Given the description of an element on the screen output the (x, y) to click on. 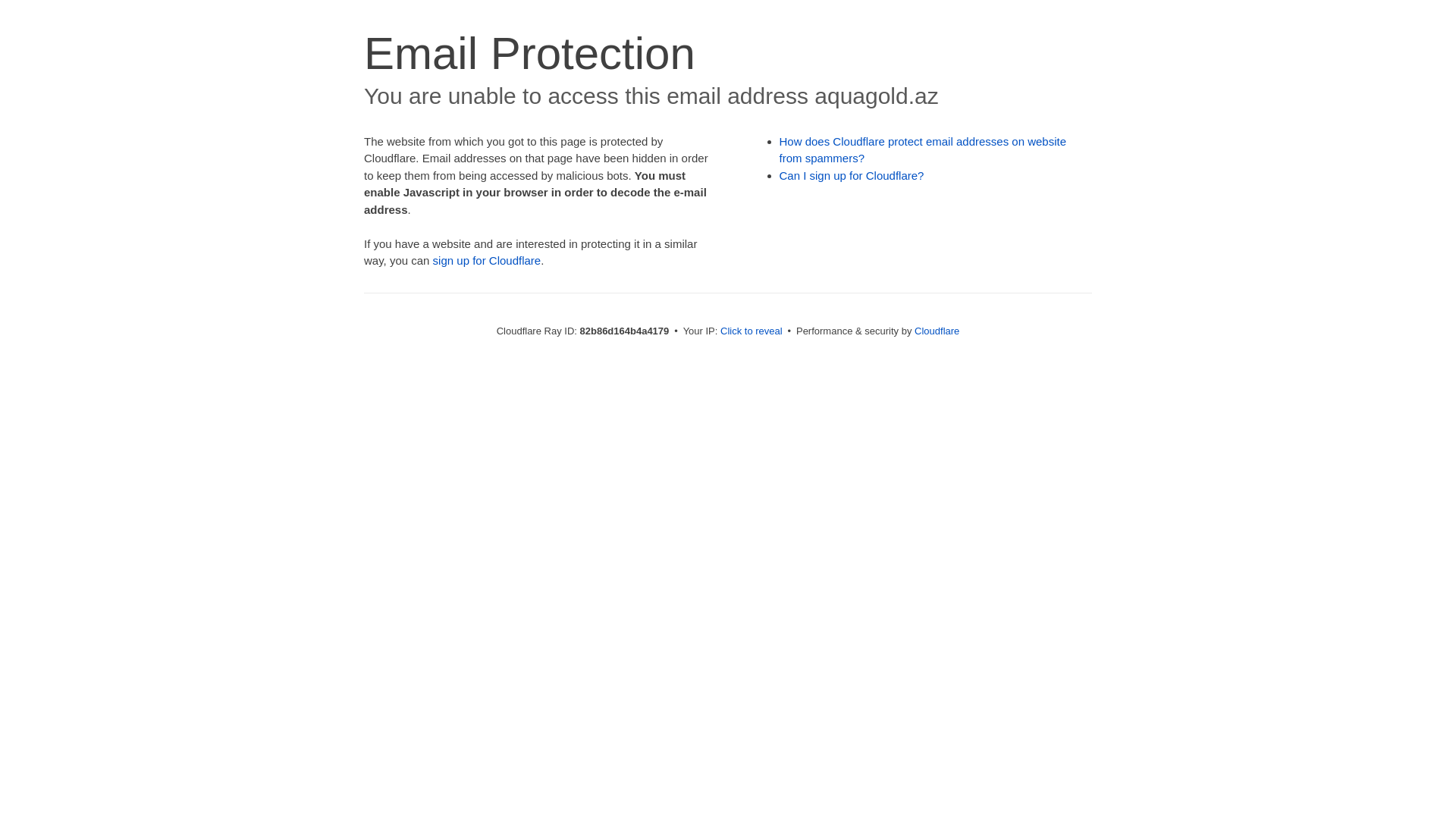
Click to reveal Element type: text (751, 330)
Cloudflare Element type: text (936, 330)
sign up for Cloudflare Element type: text (487, 260)
Can I sign up for Cloudflare? Element type: text (851, 175)
